Given the description of an element on the screen output the (x, y) to click on. 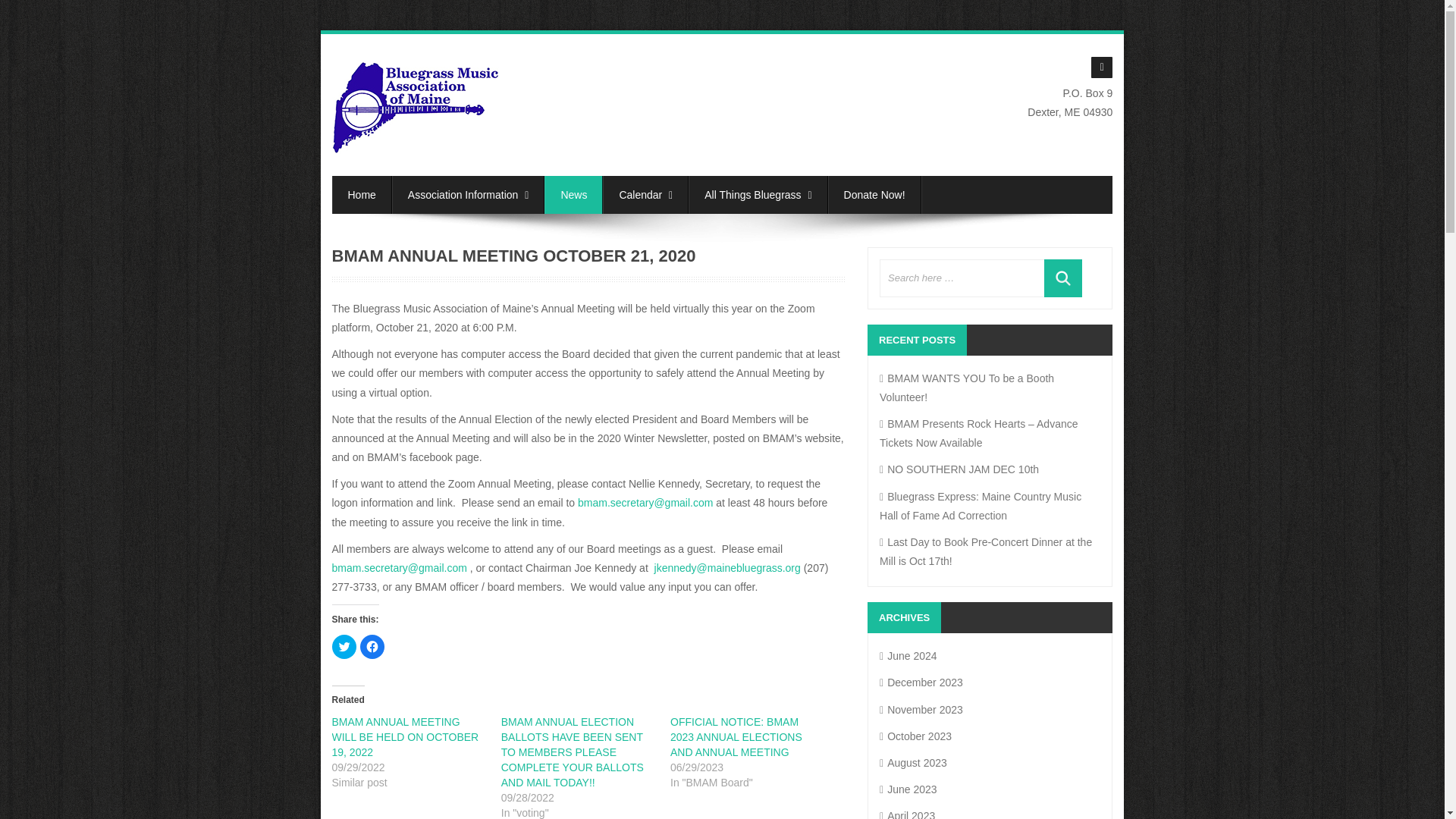
Home (361, 194)
Home (361, 194)
Calendar (645, 194)
BMAM ANNUAL MEETING WILL BE HELD ON OCTOBER 19, 2022 (405, 736)
News (573, 194)
Association Information  (467, 194)
News (573, 194)
Association Information (467, 194)
Calendar  (645, 194)
